Given the description of an element on the screen output the (x, y) to click on. 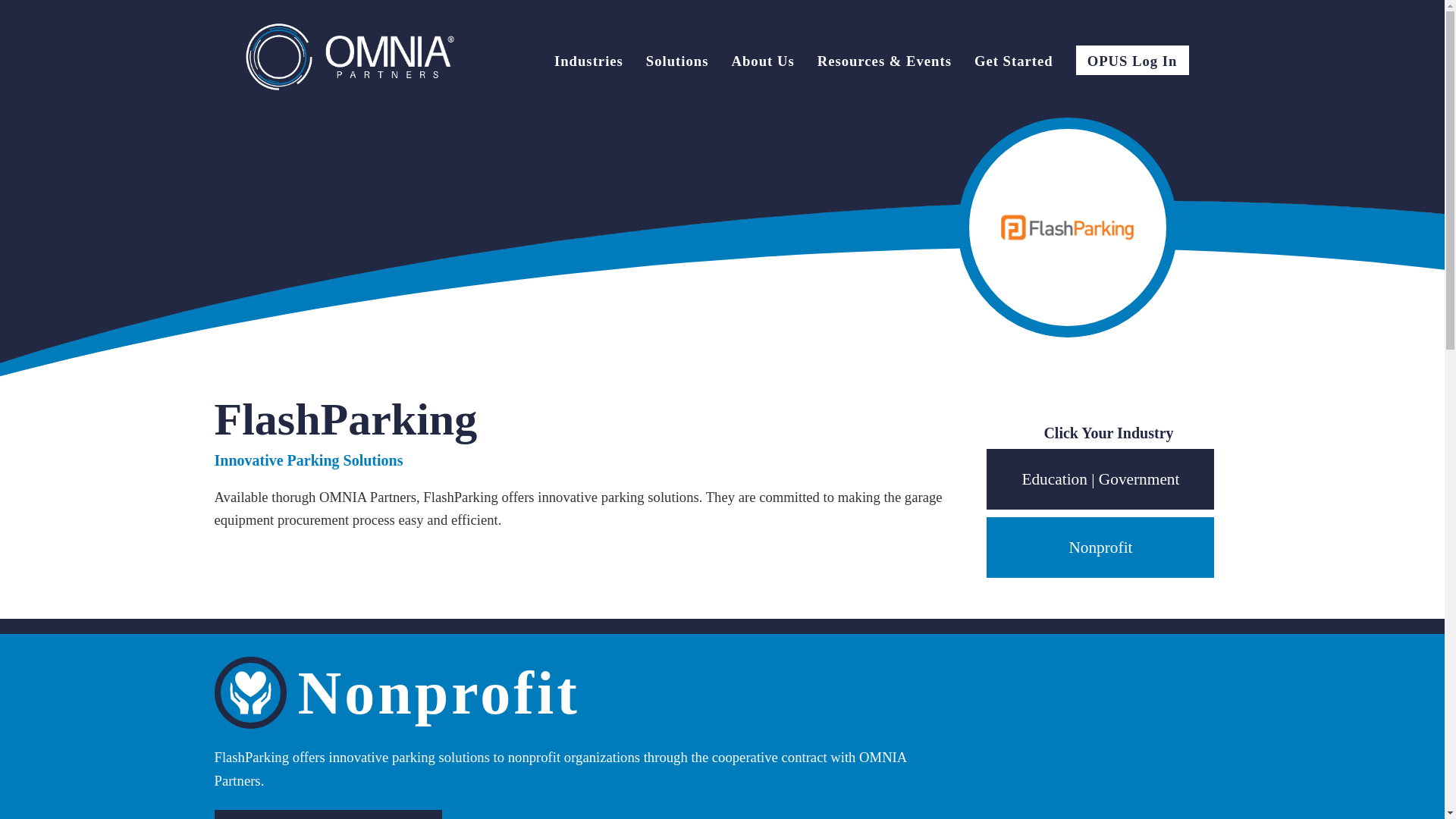
Solutions (677, 62)
Get Started (1013, 62)
OPUS Log In (1132, 60)
About Us (761, 62)
Solutions (677, 62)
Industries (588, 62)
Industries (588, 62)
About Us (761, 62)
